Given the description of an element on the screen output the (x, y) to click on. 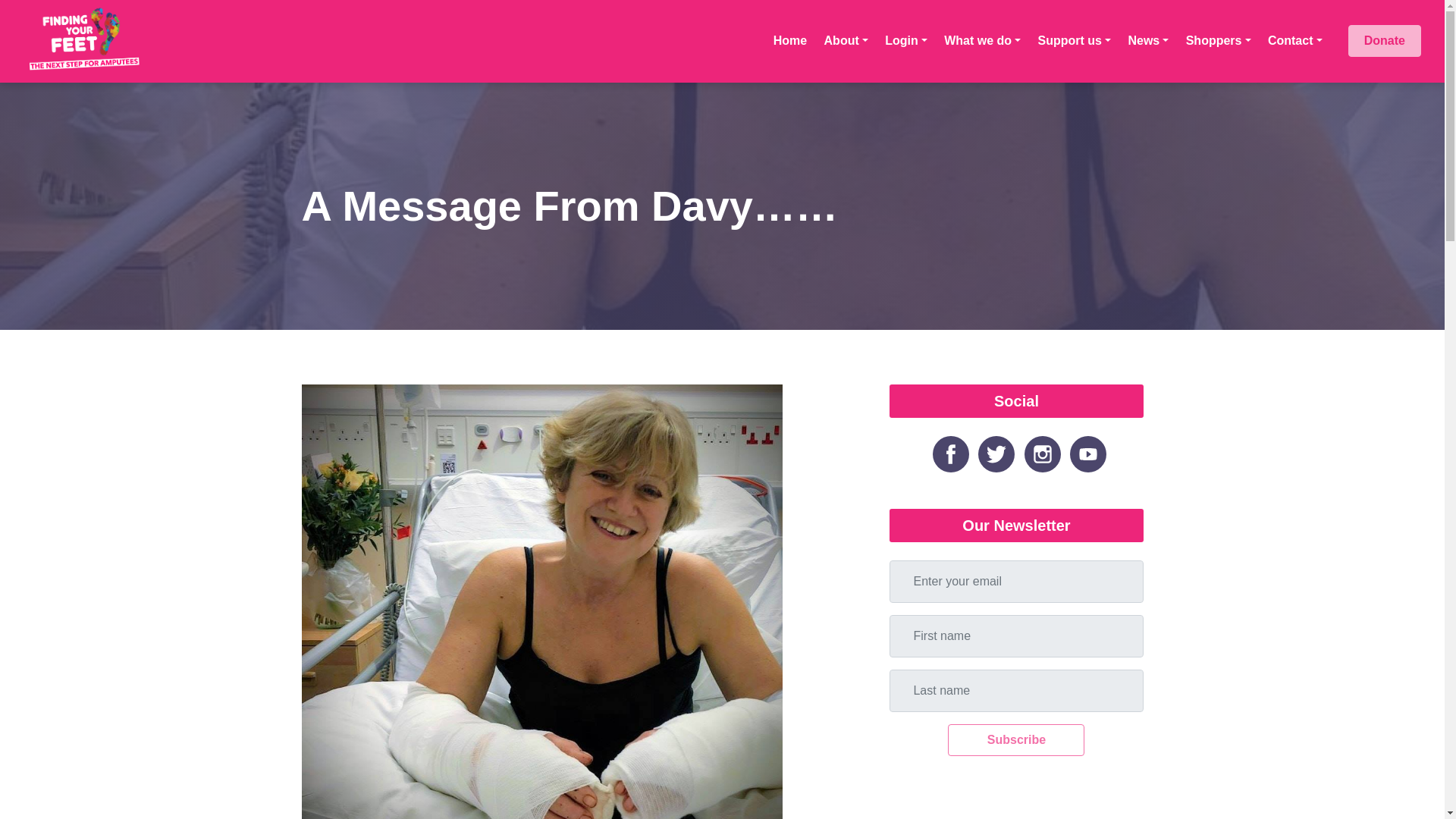
Login (906, 40)
What we do (982, 40)
About (845, 40)
Home (790, 40)
Login (906, 40)
About (845, 40)
Home (790, 40)
